Given the description of an element on the screen output the (x, y) to click on. 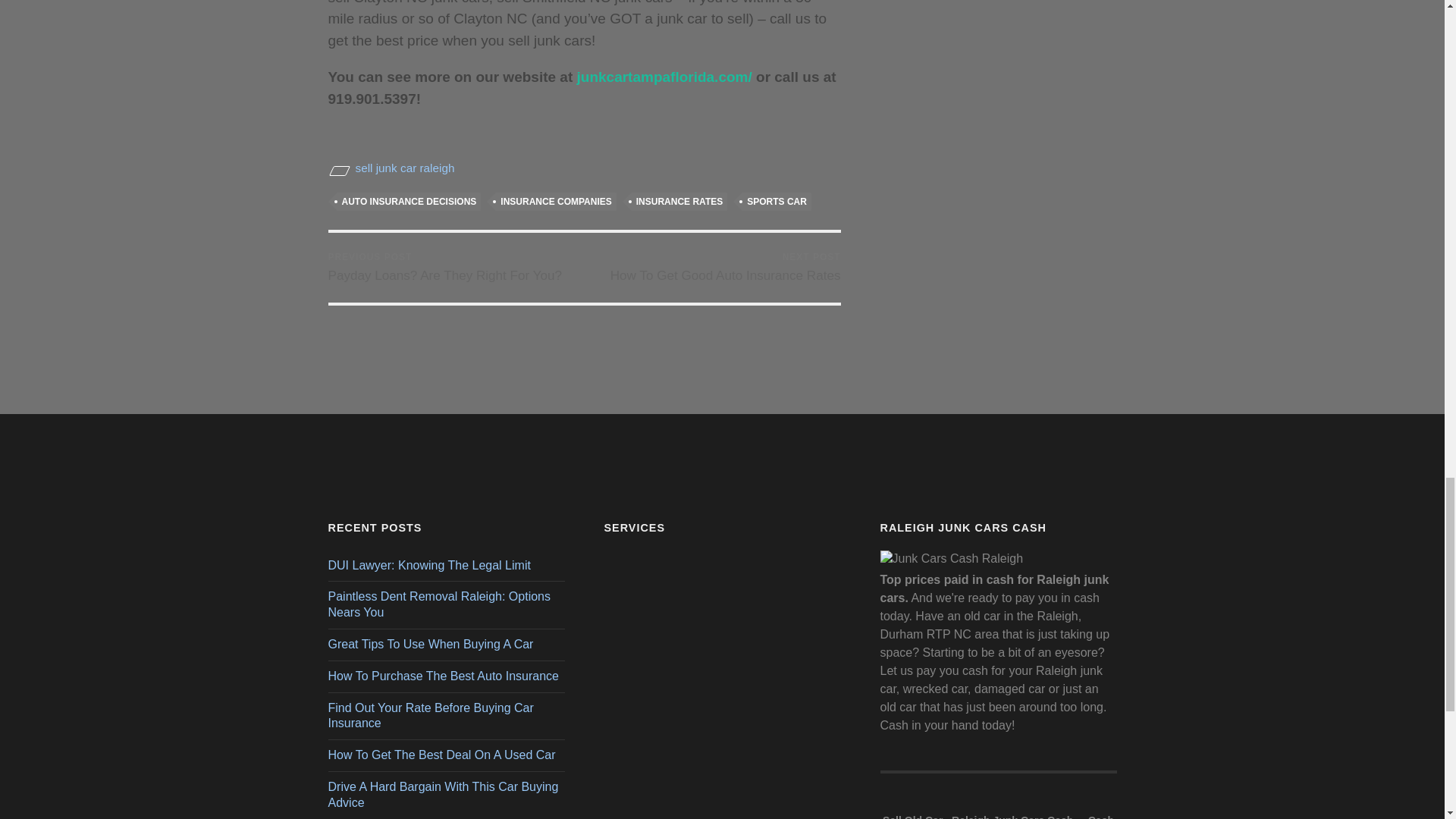
AUTO INSURANCE DECISIONS (408, 201)
INSURANCE COMPANIES (555, 201)
INSURANCE RATES (678, 201)
SPORTS CAR (776, 201)
Junk Cars Cash Raleigh (444, 267)
sell junk car raleigh (725, 267)
